Given the description of an element on the screen output the (x, y) to click on. 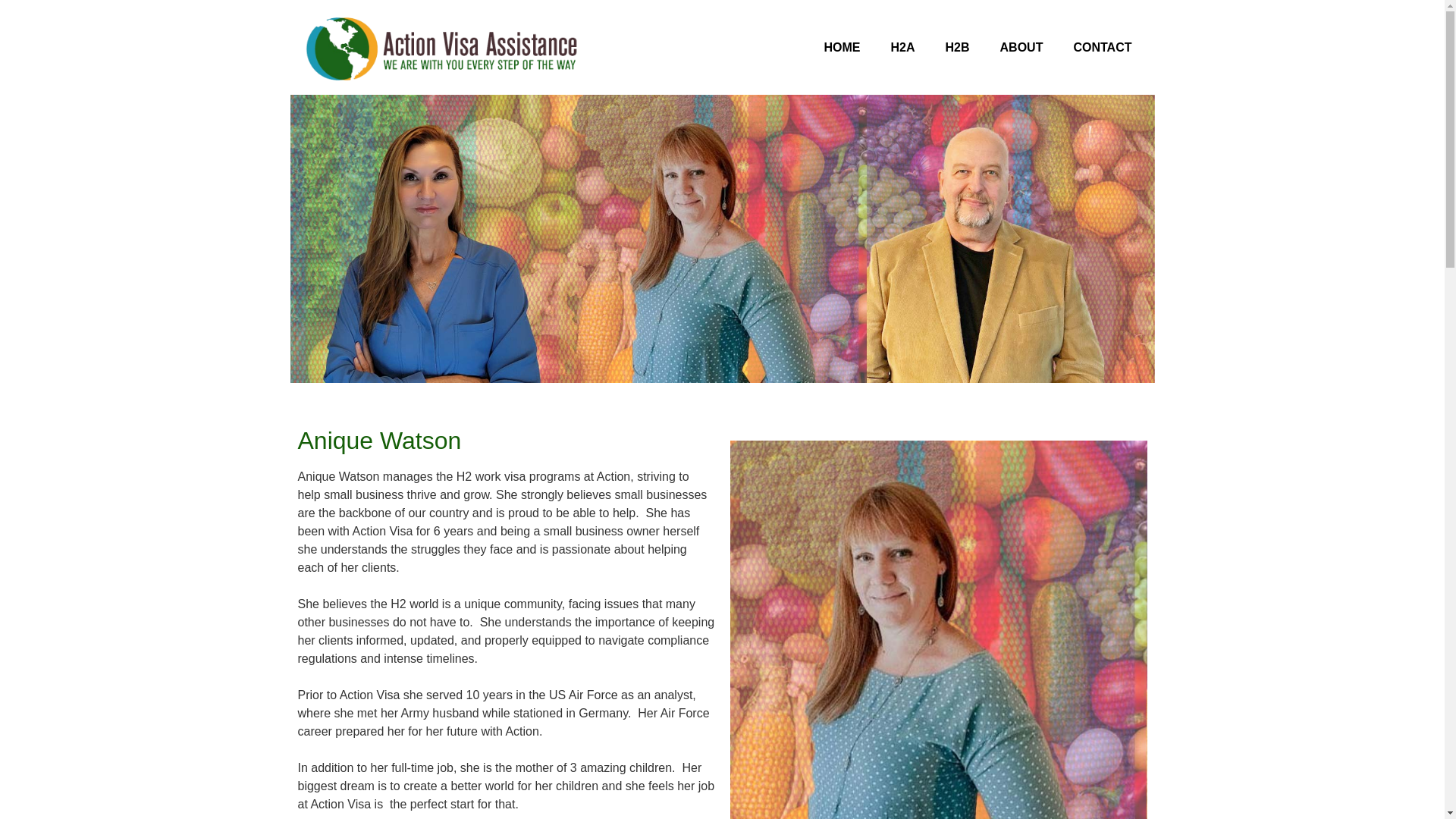
H2A (903, 47)
HOME (842, 47)
ABOUT (1021, 47)
H2B (957, 47)
CONTACT (1102, 47)
